Given the description of an element on the screen output the (x, y) to click on. 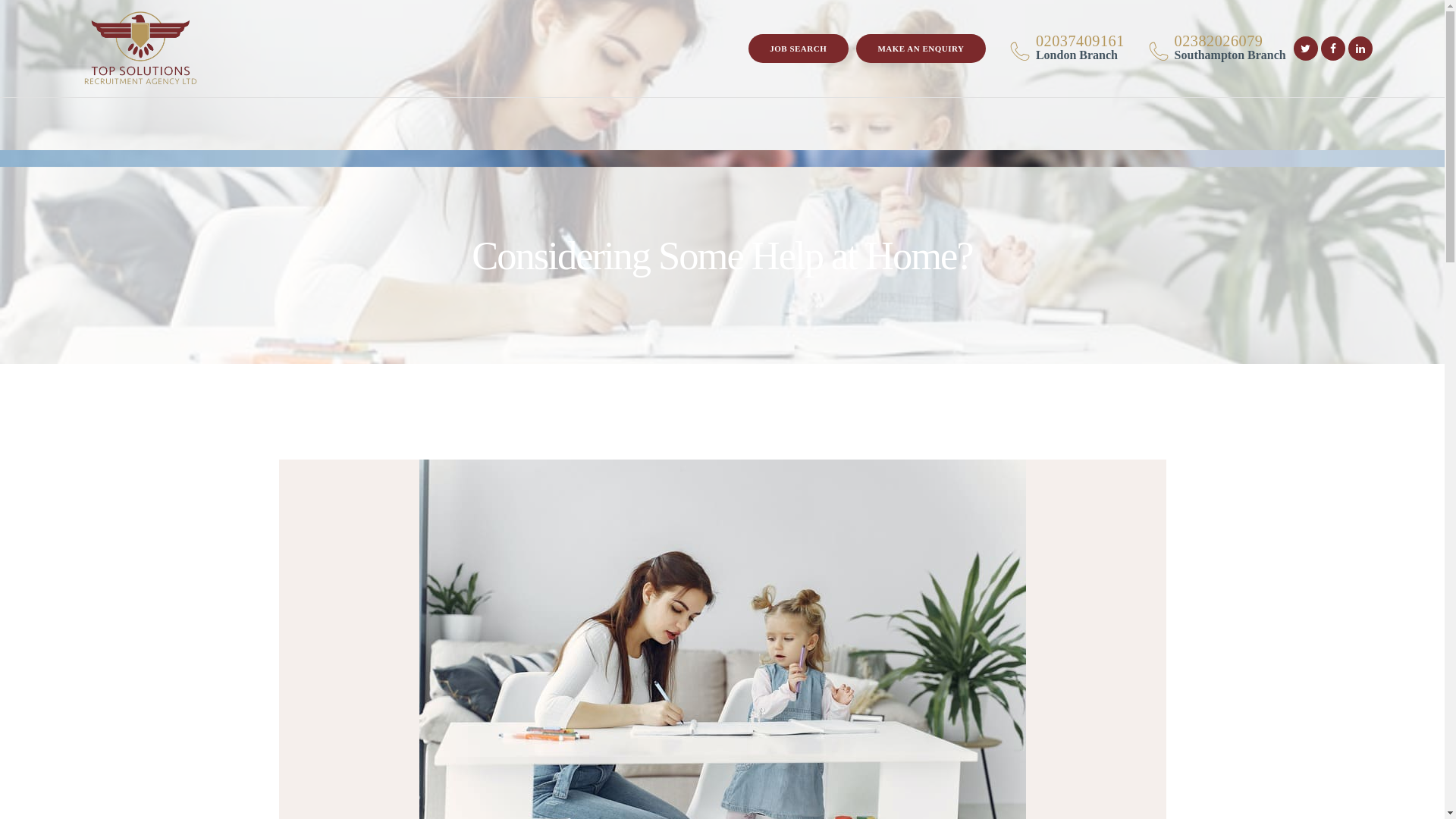
JOB SEARCH (1208, 49)
MAKE AN ENQUIRY (798, 48)
